Given the description of an element on the screen output the (x, y) to click on. 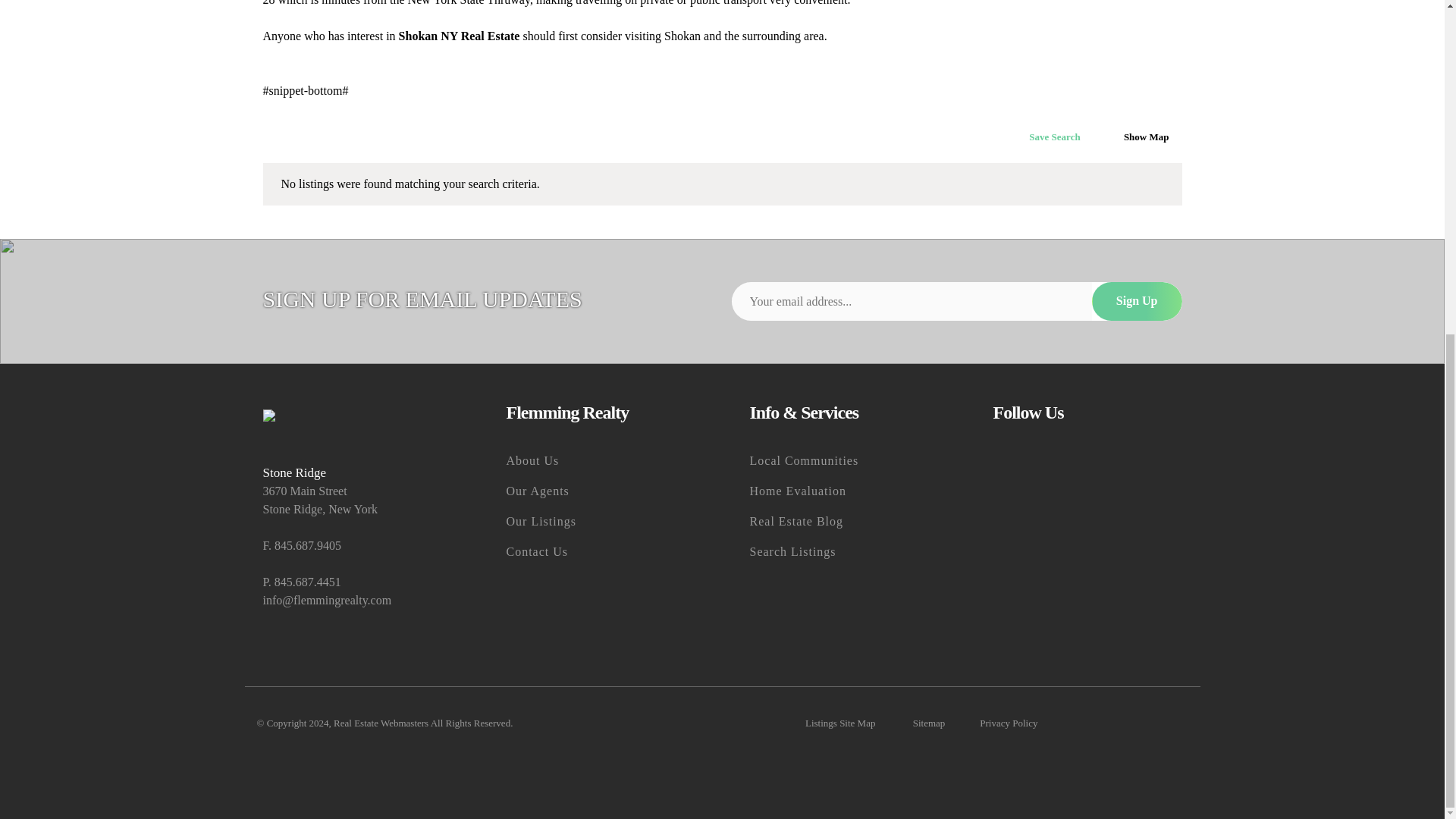
Show Map (1139, 136)
About Us (600, 460)
Our Agents (600, 490)
Save Search (1046, 137)
Local Communities (843, 460)
Real Estate Blog (843, 521)
Home Evaluation (843, 490)
P. 845.687.4451 (356, 582)
Contact Us (600, 552)
Sign Up (1137, 300)
